Given the description of an element on the screen output the (x, y) to click on. 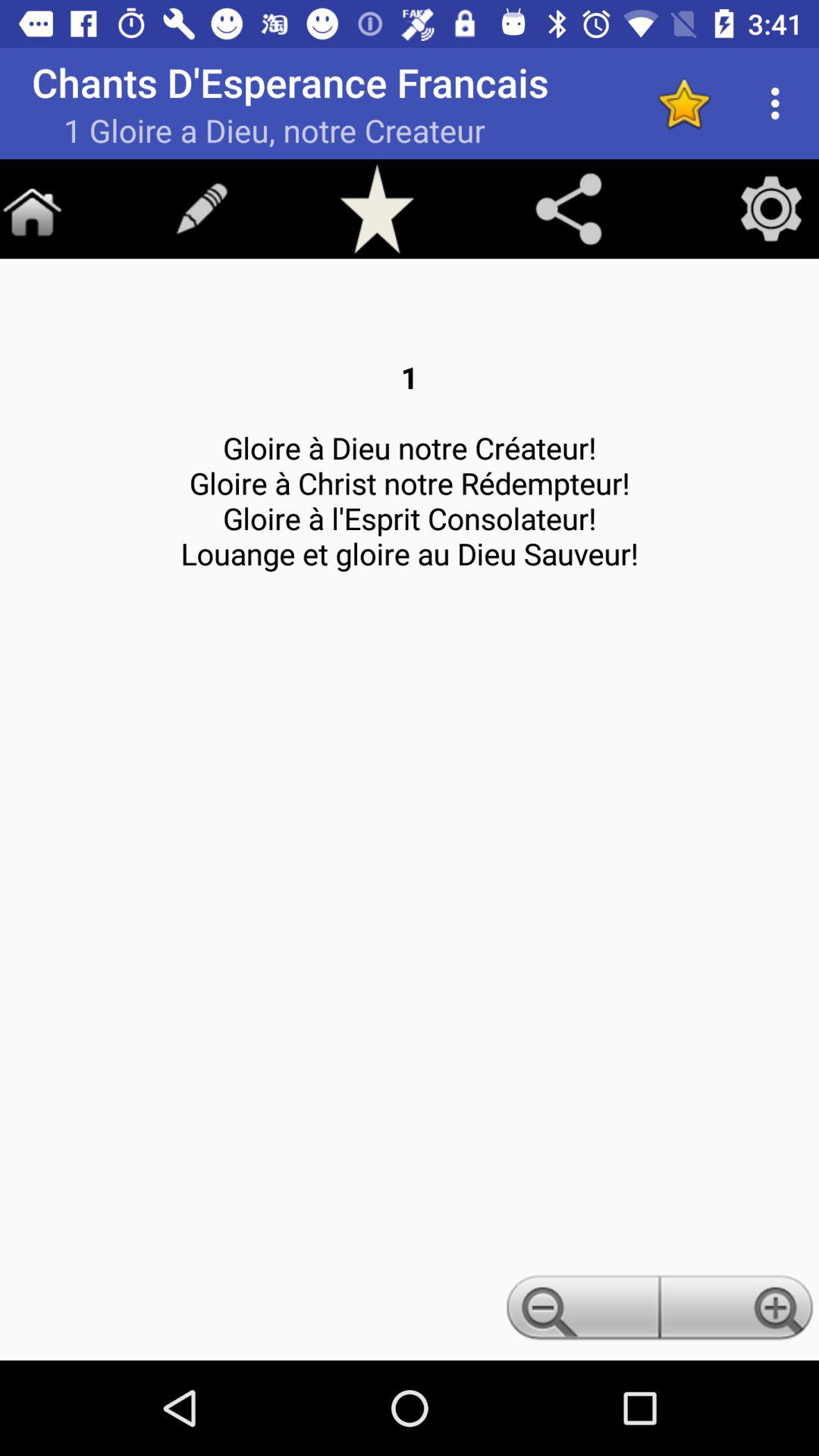
new button (201, 208)
